Given the description of an element on the screen output the (x, y) to click on. 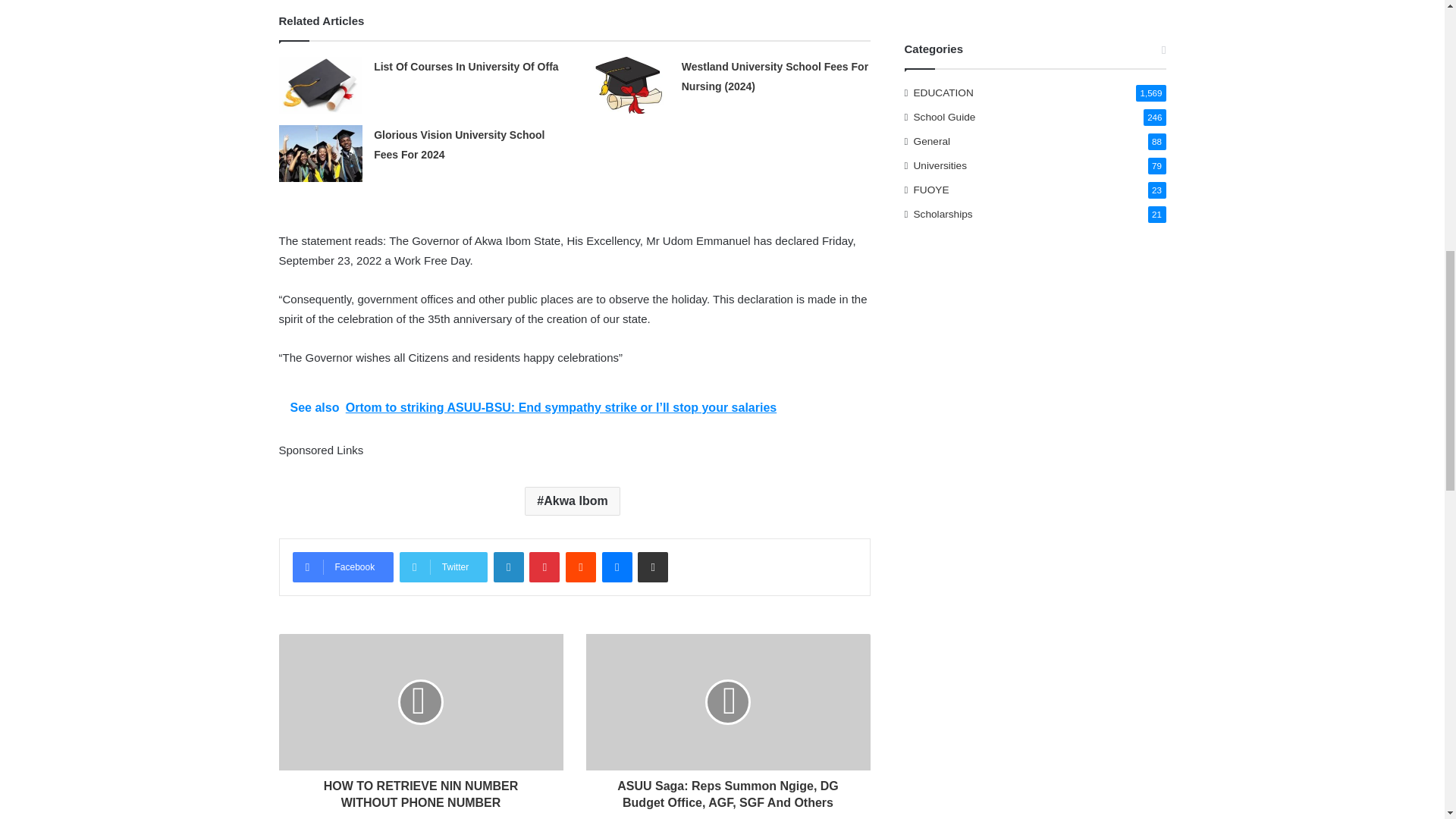
LinkedIn (508, 567)
LinkedIn (508, 567)
Reddit (580, 567)
Akwa Ibom (572, 500)
Glorious Vision University School Fees For 2024 (459, 144)
Pinterest (544, 567)
Facebook (343, 567)
List Of Courses In University Of Offa (466, 66)
Pinterest (544, 567)
